Given the description of an element on the screen output the (x, y) to click on. 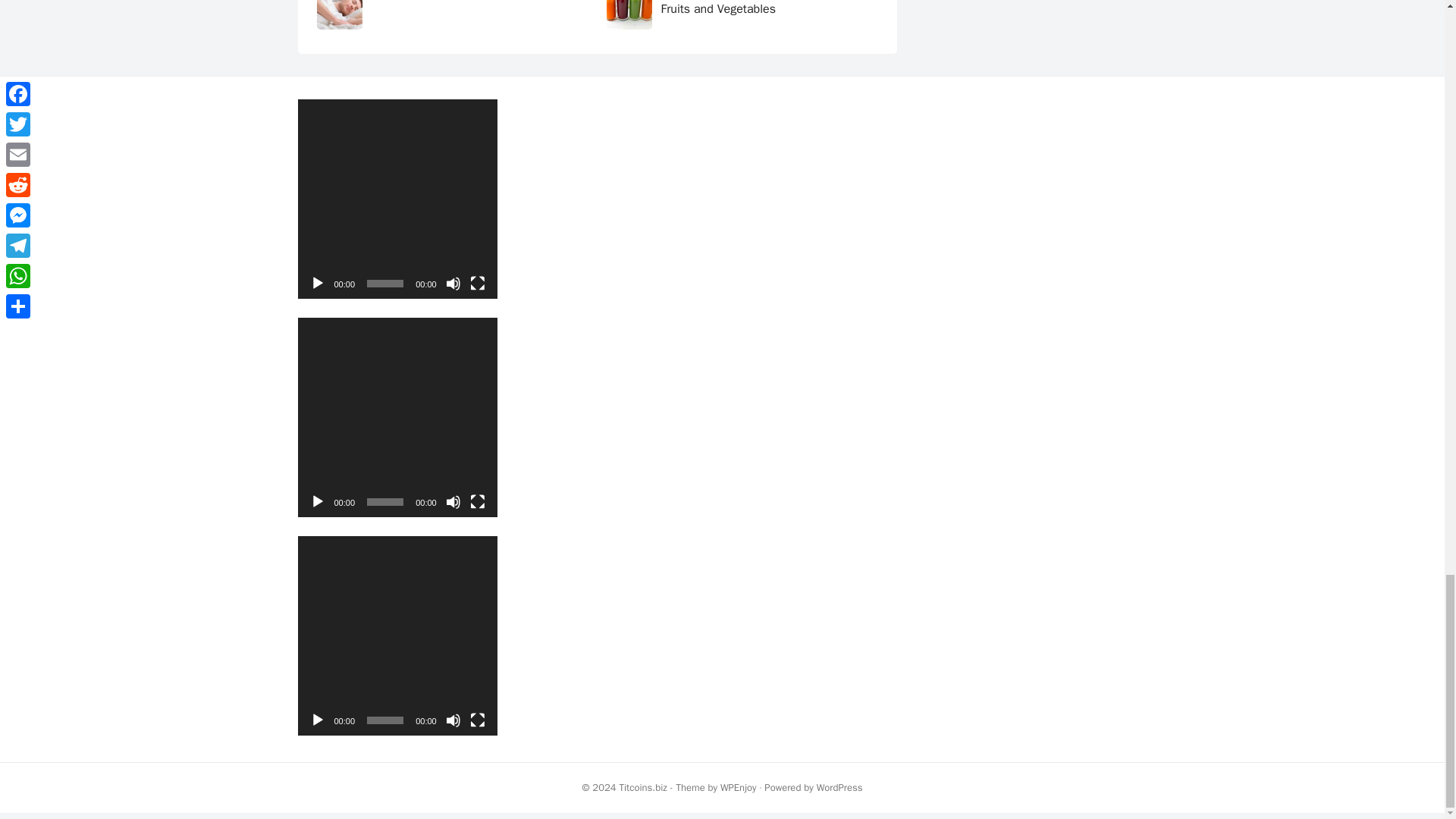
Play (316, 283)
Fullscreen (477, 720)
Mute (453, 501)
Fullscreen (477, 283)
Play (316, 720)
Mute (453, 720)
Mute (453, 283)
Fullscreen (477, 501)
Play (316, 501)
Some Juicing Recipes You Can Try With Fruits and Vegetables (765, 8)
